Given the description of an element on the screen output the (x, y) to click on. 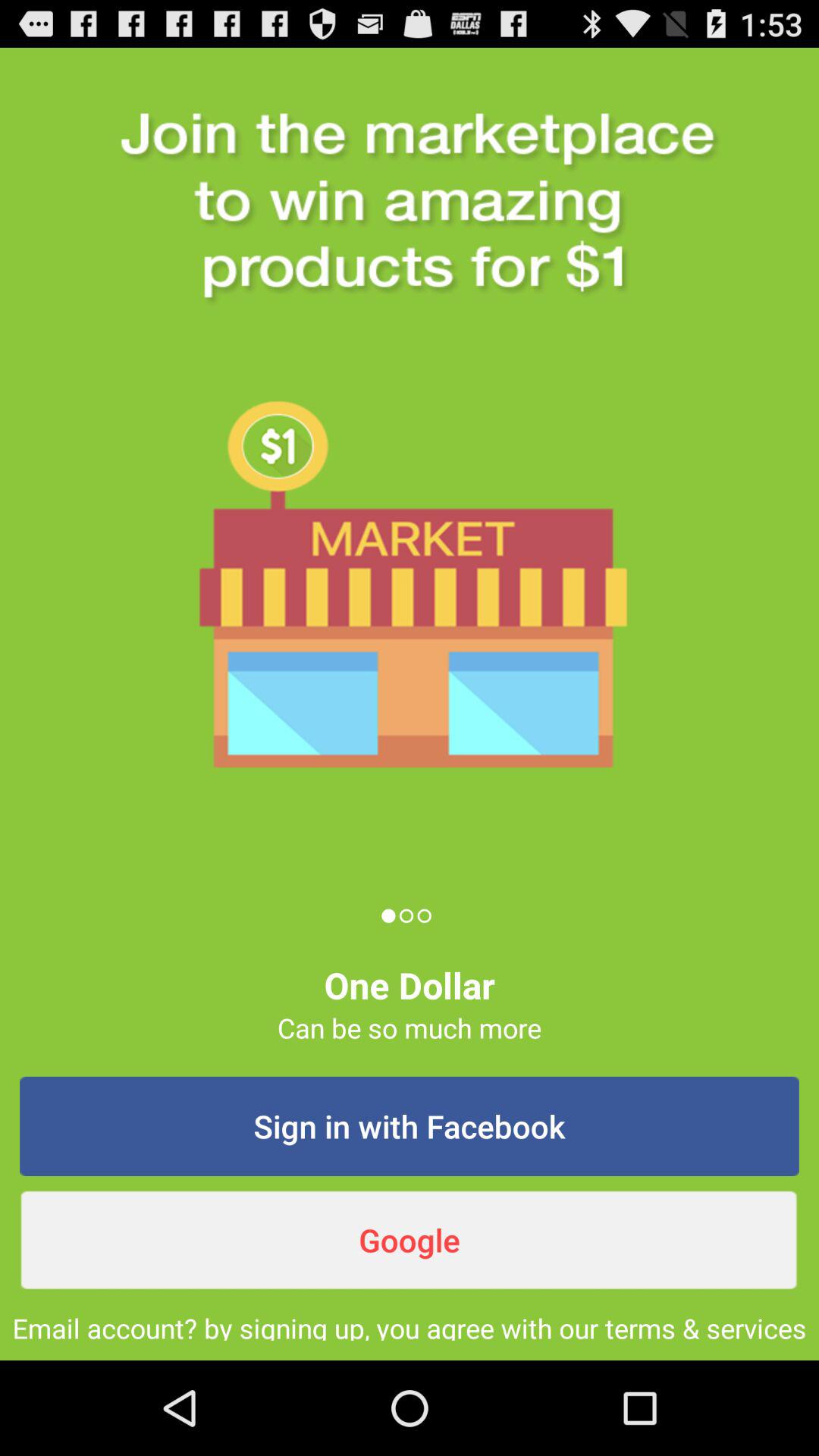
flip to google item (409, 1239)
